Given the description of an element on the screen output the (x, y) to click on. 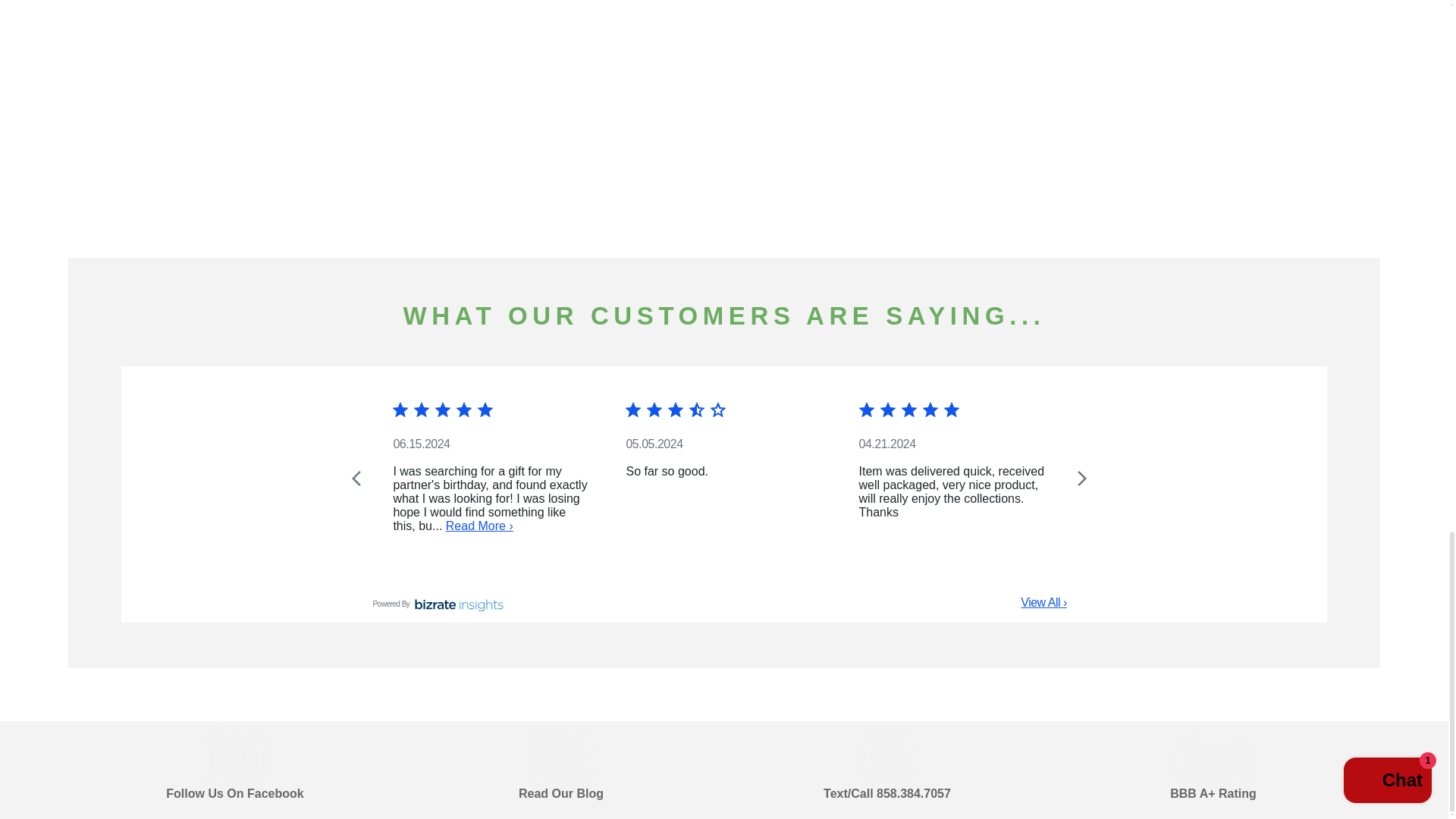
AutographsForSale.com (1150, 107)
AutographsForSale.com (297, 107)
AutographsForSale.com (724, 107)
